Given the description of an element on the screen output the (x, y) to click on. 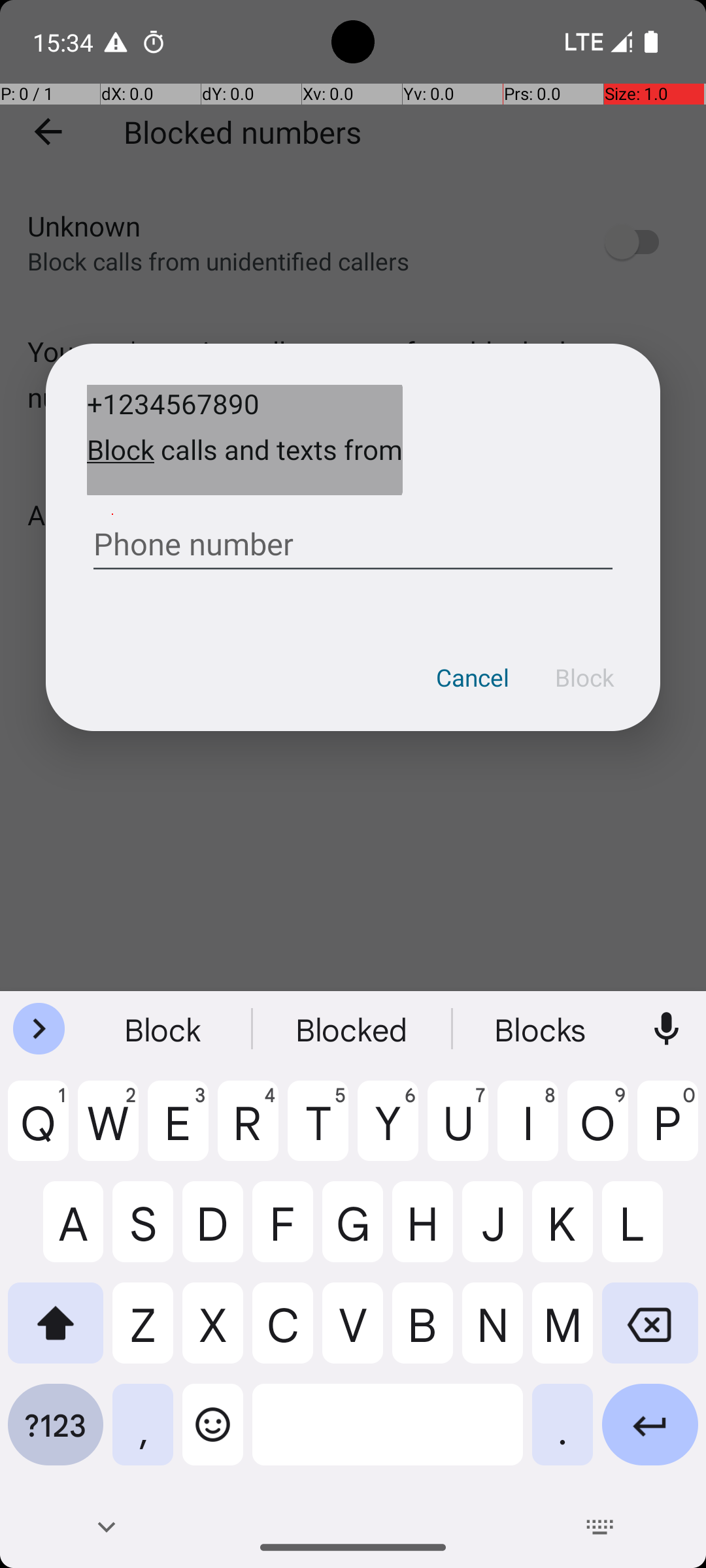
+1234567890
Block calls and texts from Element type: android.widget.TextView (244, 439)
Phone number Element type: android.widget.EditText (352, 538)
Block Element type: android.widget.Button (584, 677)
Back Element type: android.widget.ImageView (106, 1526)
Switch input method Element type: android.widget.ImageView (599, 1526)
Open features menu Element type: android.widget.FrameLayout (39, 1028)
Blocked Element type: android.widget.FrameLayout (352, 1028)
Blocks Element type: android.widget.FrameLayout (541, 1028)
Voice input Element type: android.widget.FrameLayout (666, 1028)
Q Element type: android.widget.FrameLayout (38, 1130)
W Element type: android.widget.FrameLayout (108, 1130)
E Element type: android.widget.FrameLayout (178, 1130)
R Element type: android.widget.FrameLayout (248, 1130)
T Element type: android.widget.FrameLayout (318, 1130)
Y Element type: android.widget.FrameLayout (387, 1130)
U Element type: android.widget.FrameLayout (457, 1130)
I Element type: android.widget.FrameLayout (527, 1130)
O Element type: android.widget.FrameLayout (597, 1130)
P Element type: android.widget.FrameLayout (667, 1130)
A Element type: android.widget.FrameLayout (55, 1231)
S Element type: android.widget.FrameLayout (142, 1231)
D Element type: android.widget.FrameLayout (212, 1231)
F Element type: android.widget.FrameLayout (282, 1231)
G Element type: android.widget.FrameLayout (352, 1231)
H Element type: android.widget.FrameLayout (422, 1231)
J Element type: android.widget.FrameLayout (492, 1231)
K Element type: android.widget.FrameLayout (562, 1231)
L Element type: android.widget.FrameLayout (649, 1231)
Shift Element type: android.widget.FrameLayout (55, 1332)
Z Element type: android.widget.FrameLayout (142, 1332)
X Element type: android.widget.FrameLayout (212, 1332)
C Element type: android.widget.FrameLayout (282, 1332)
V Element type: android.widget.FrameLayout (352, 1332)
B Element type: android.widget.FrameLayout (422, 1332)
N Element type: android.widget.FrameLayout (492, 1332)
M Element type: android.widget.FrameLayout (562, 1332)
Symbol keyboard Element type: android.widget.FrameLayout (55, 1434)
, Element type: android.widget.FrameLayout (142, 1434)
Emoji button Element type: android.widget.FrameLayout (212, 1434)
Space Element type: android.widget.FrameLayout (387, 1434)
. Element type: android.widget.FrameLayout (562, 1434)
Enter Element type: android.widget.FrameLayout (649, 1434)
